Given the description of an element on the screen output the (x, y) to click on. 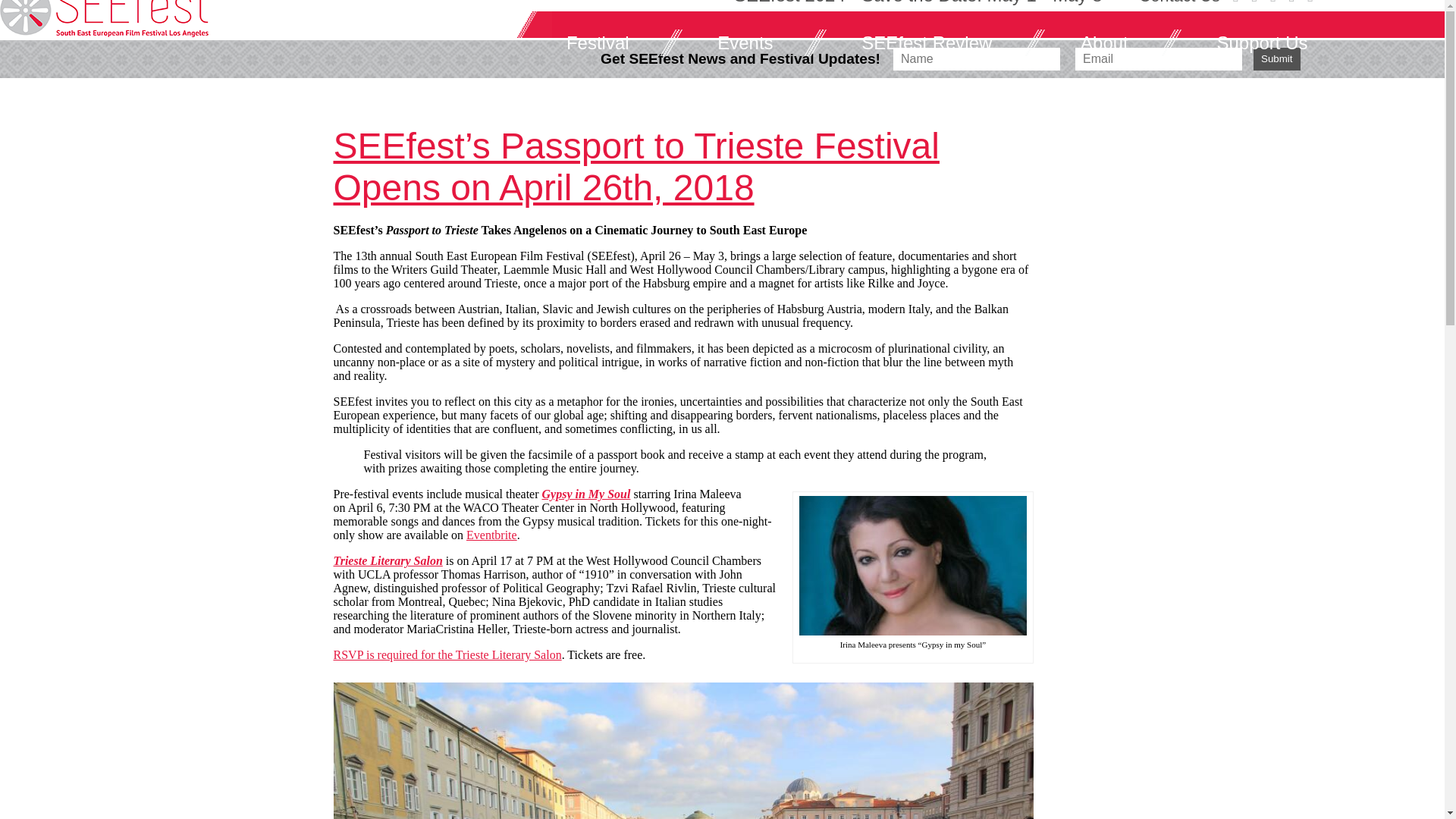
RSVP is required for the Trieste Literary Salon (447, 654)
Support Us (1276, 42)
Festival (612, 42)
SEEfest Review (941, 42)
Contact Us (1179, 2)
Trieste Literary Salon (387, 560)
About (1119, 42)
Eventbrite (490, 534)
Events (759, 42)
Submit (1276, 58)
Gypsy in My Soul (585, 493)
